Given the description of an element on the screen output the (x, y) to click on. 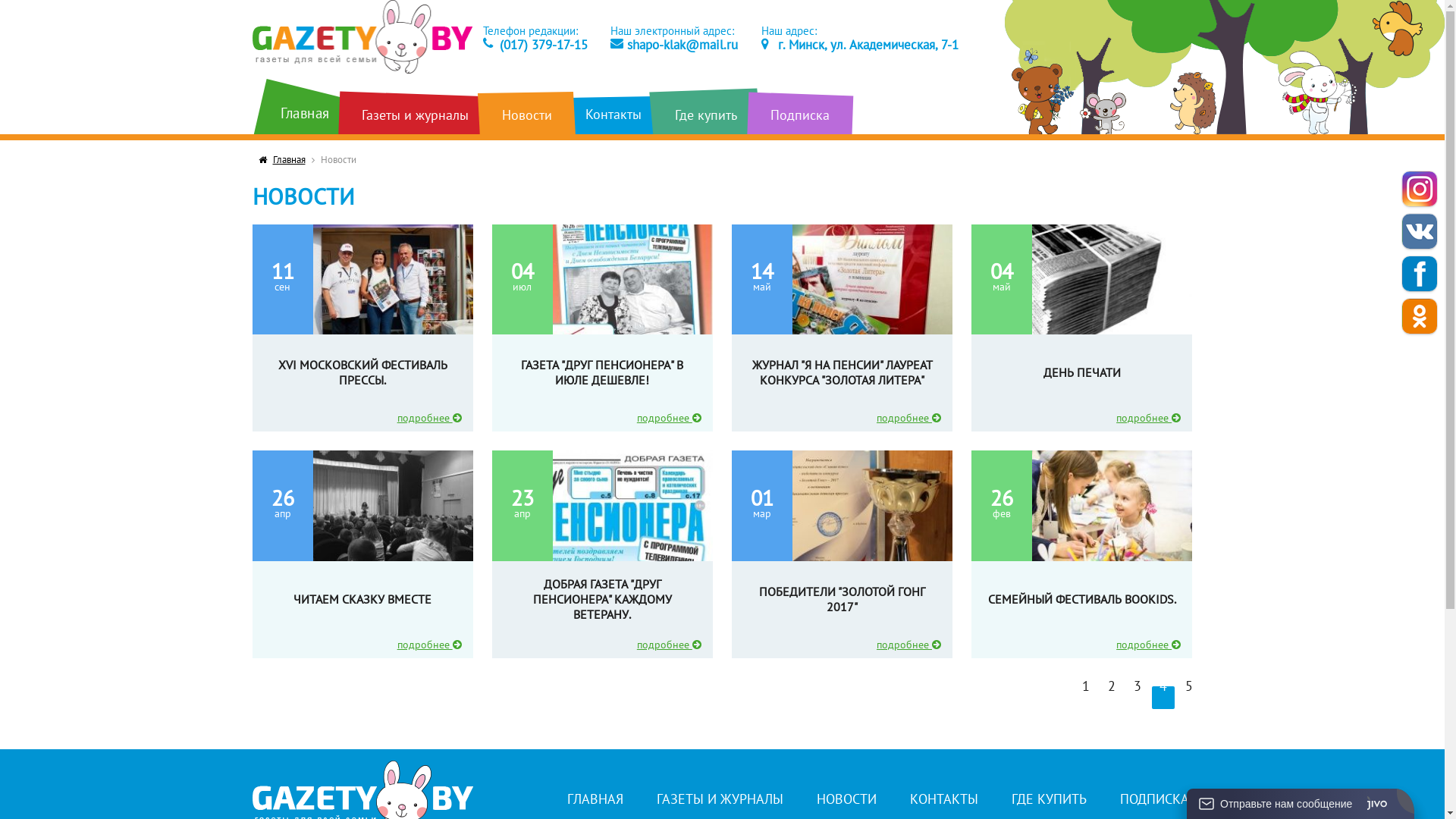
3 Element type: text (1137, 697)
2 Element type: text (1111, 697)
4 Element type: text (1162, 697)
5 Element type: text (1188, 697)
(017) 379-17-15 Element type: text (534, 44)
shapo-klak@mail.ru Element type: text (673, 44)
1 Element type: text (1085, 697)
